Given the description of an element on the screen output the (x, y) to click on. 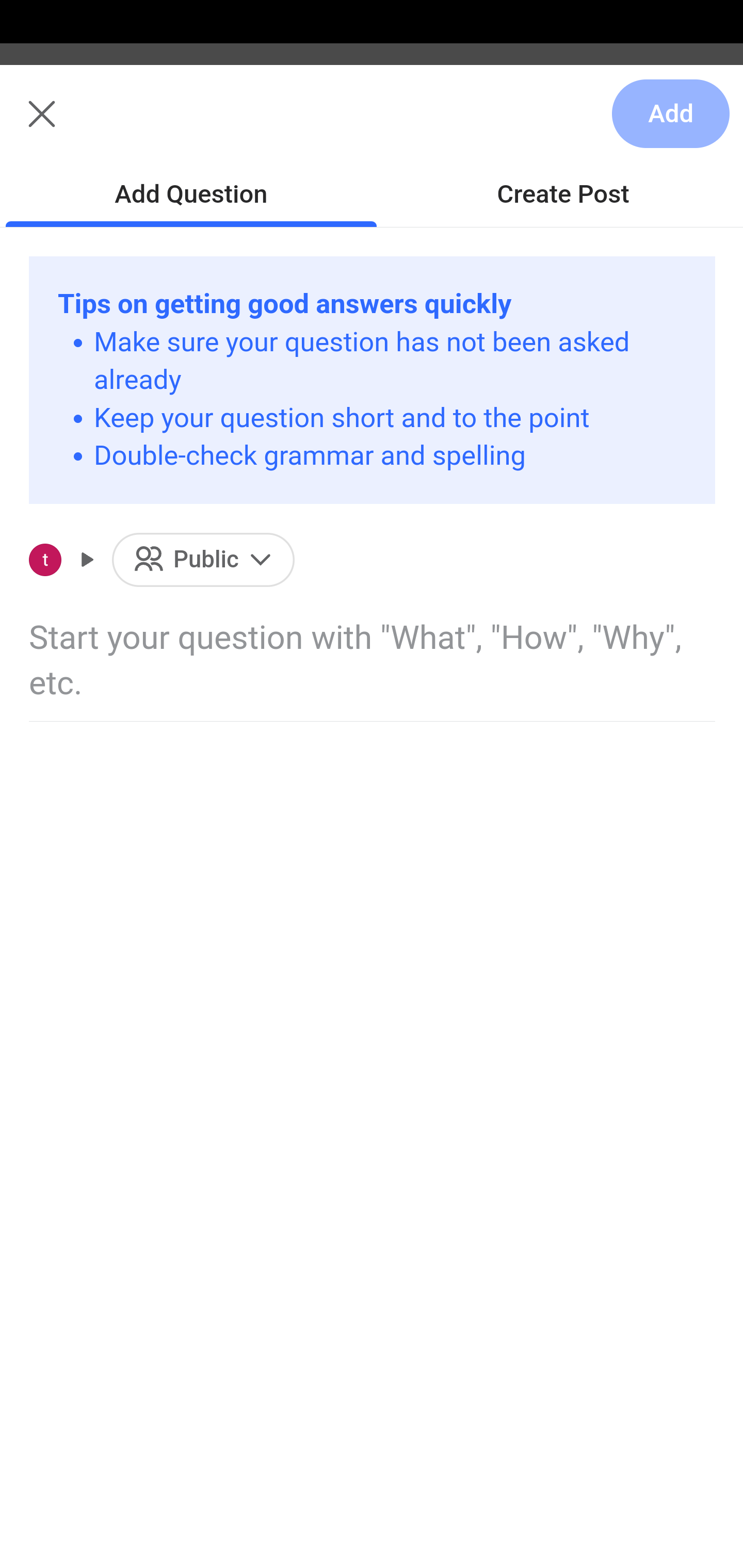
Me Home Search Add (371, 125)
Me (64, 125)
